Given the description of an element on the screen output the (x, y) to click on. 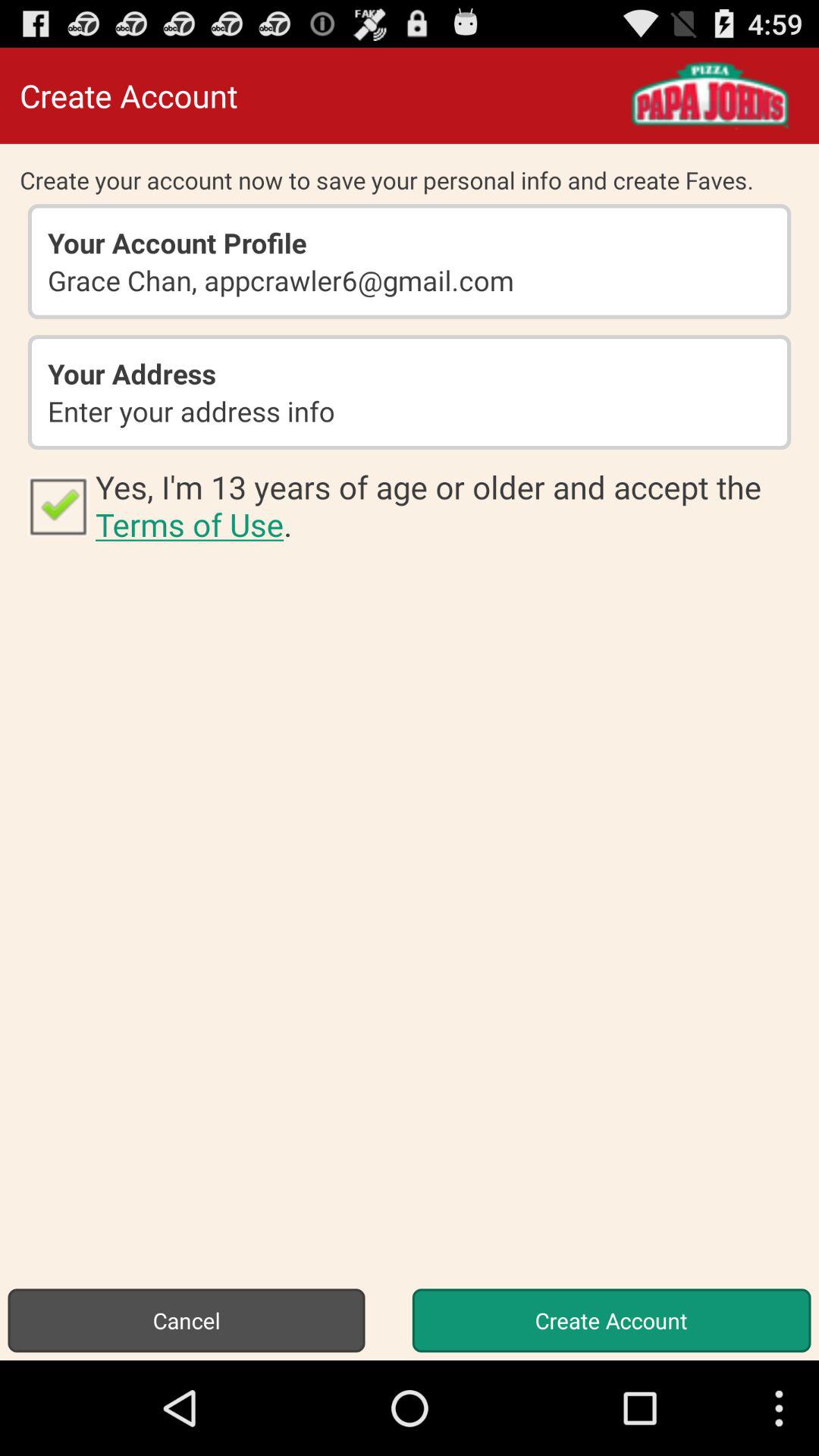
turn on app next to yes i m app (57, 505)
